Given the description of an element on the screen output the (x, y) to click on. 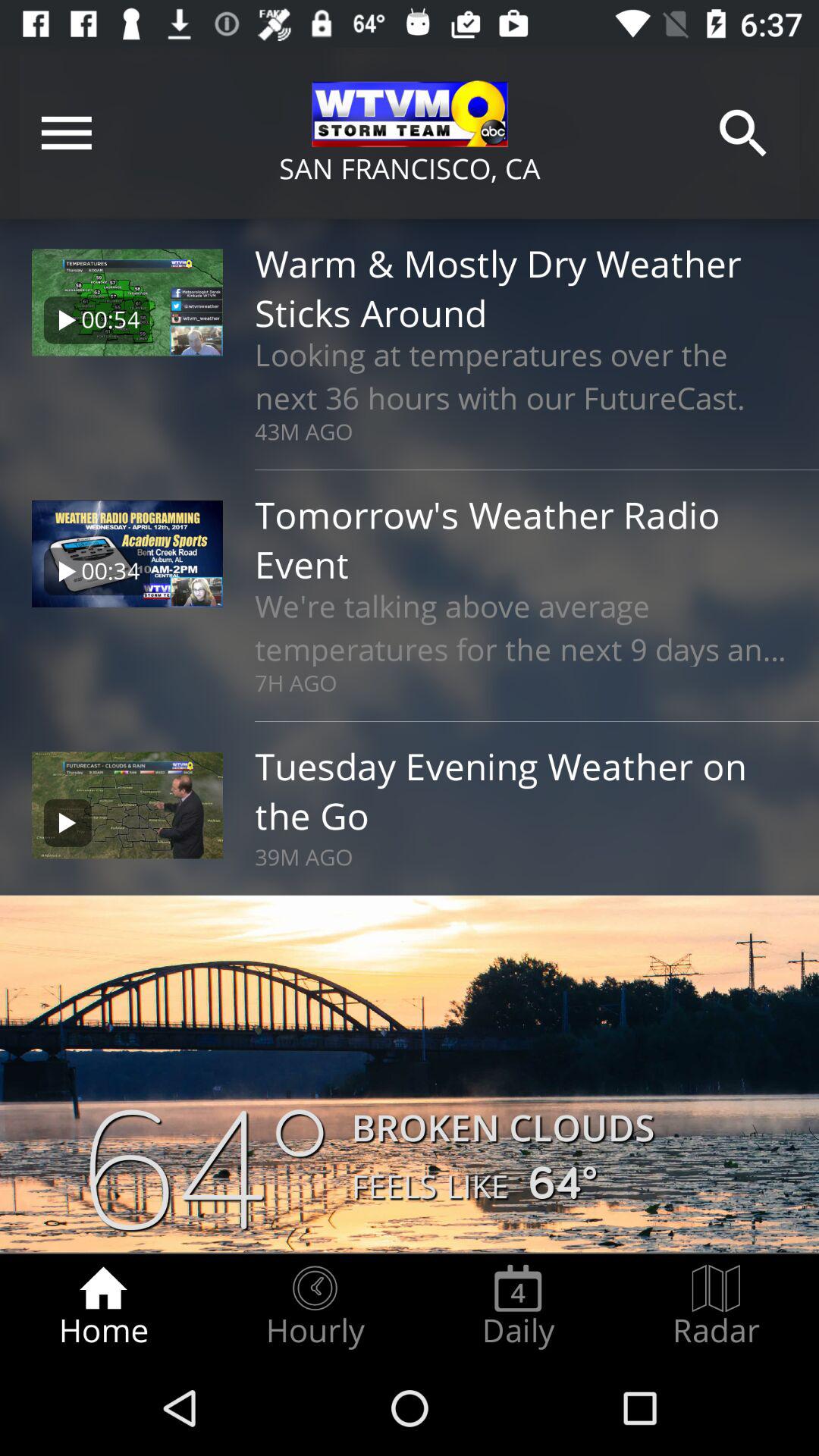
turn on the hourly item (315, 1307)
